Given the description of an element on the screen output the (x, y) to click on. 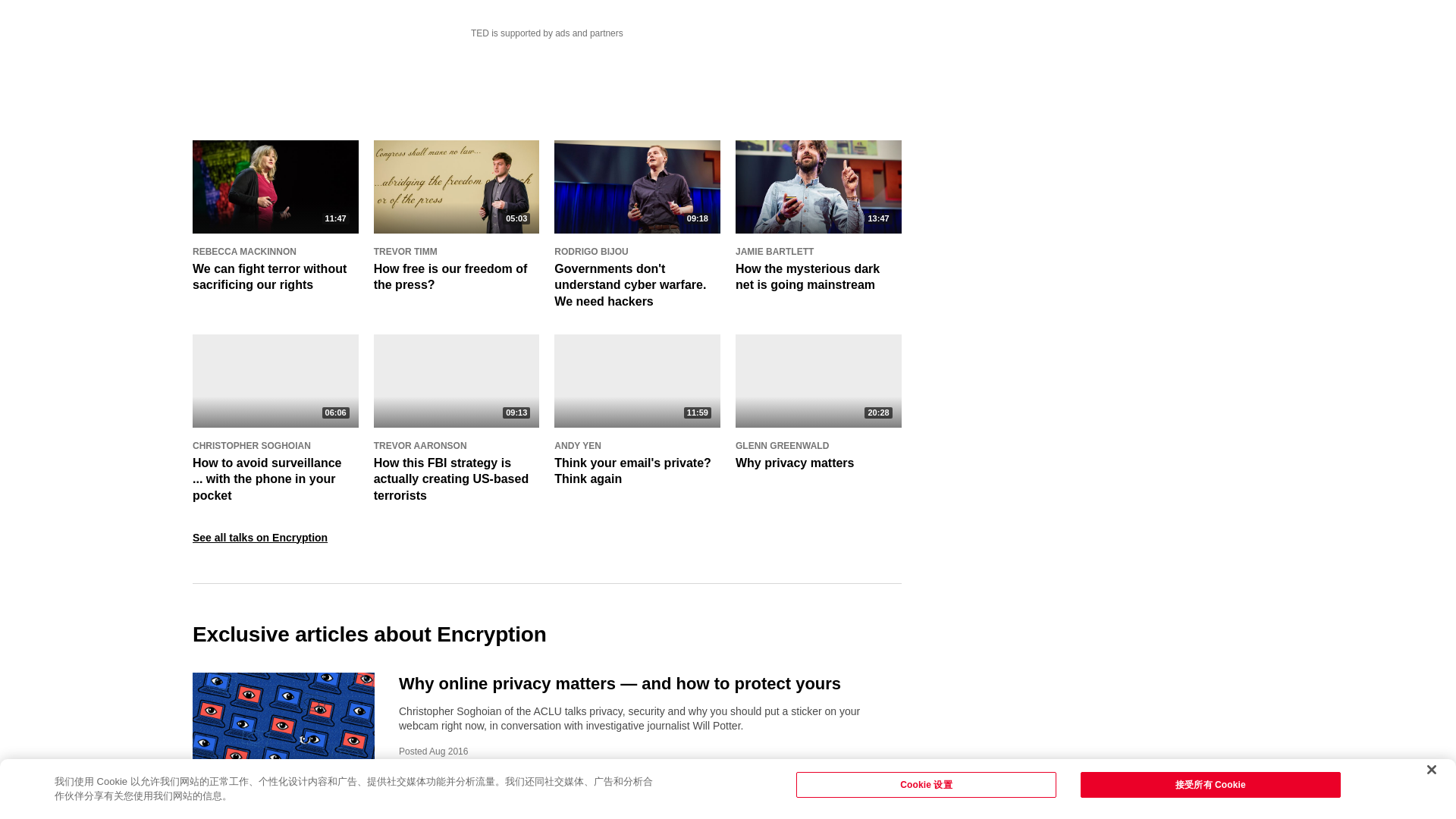
3rd party ad content (1149, 48)
3rd party ad content (546, 81)
See all talks on Encryption (259, 536)
